Given the description of an element on the screen output the (x, y) to click on. 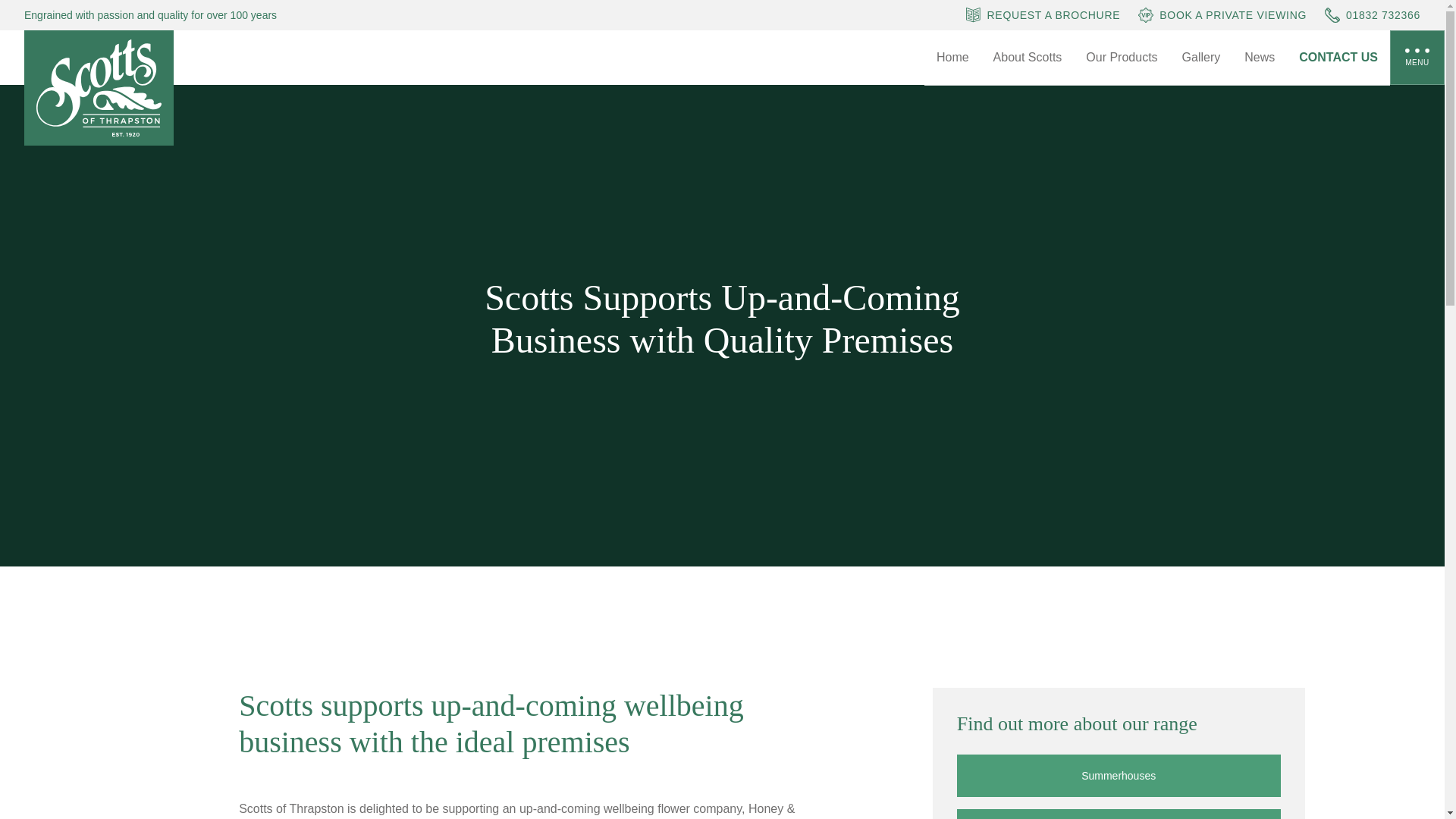
REQUEST A BROCHURE (1043, 14)
01832 732366 (1372, 14)
CONTACT US (1338, 57)
Equestrian Buildings (1118, 814)
Gallery (1201, 57)
BOOK A PRIVATE VIEWING (1222, 14)
Home (952, 57)
Summerhouses (1118, 775)
About Scotts (1027, 57)
News (1259, 57)
Our Products (1121, 57)
